Given the description of an element on the screen output the (x, y) to click on. 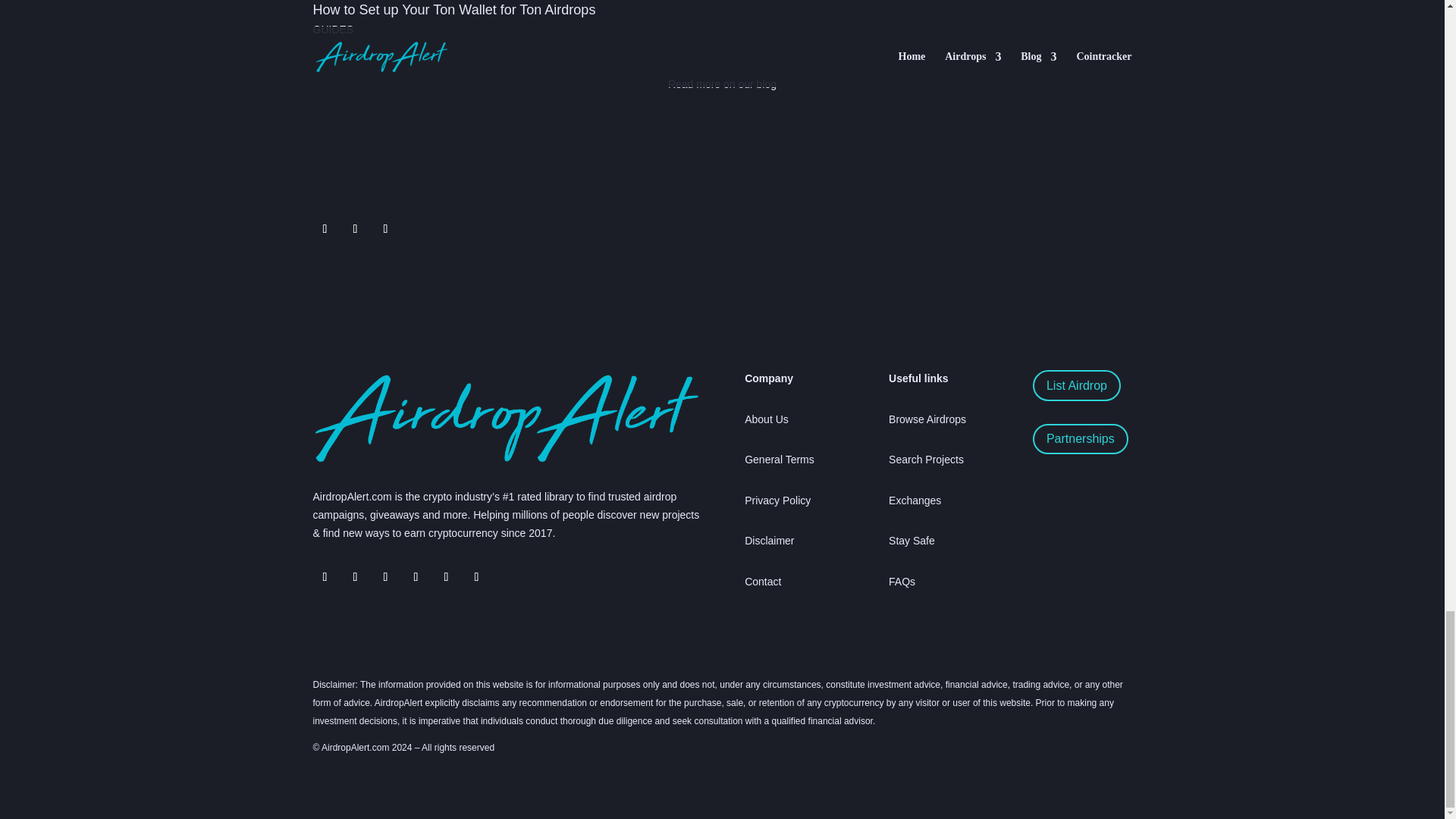
Follow on Telegram (324, 576)
Follow on X (354, 576)
Follow on X (324, 228)
Follow on Youtube (445, 576)
Follow on Instagram (415, 576)
Follow on Facebook (384, 576)
Follow on Facebook (384, 228)
airdrop-alert-logo (505, 418)
Follow on Telegram (354, 228)
